Given the description of an element on the screen output the (x, y) to click on. 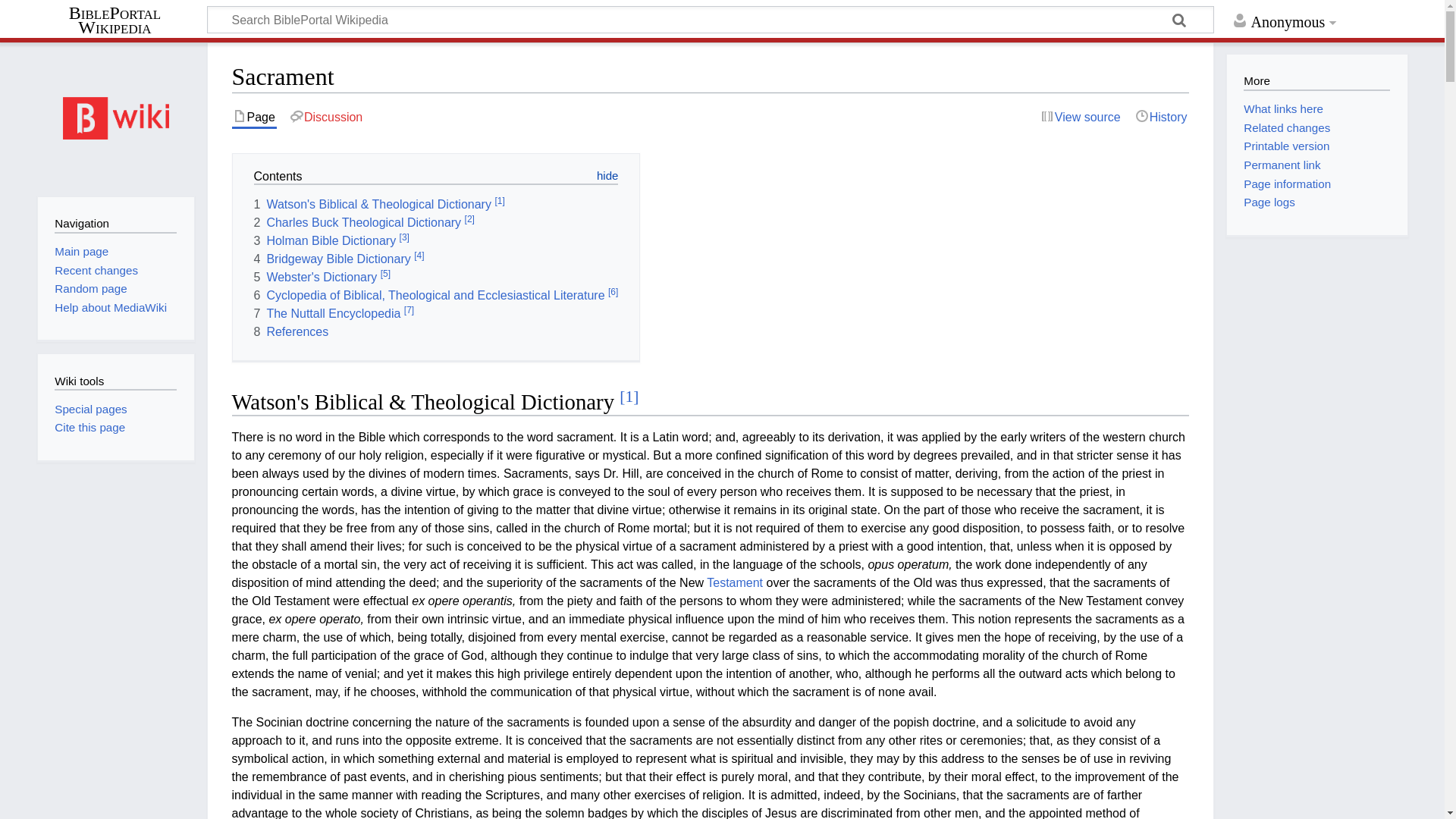
BiblePortal Wikipedia (121, 20)
Search (1179, 21)
Search the pages for this text (1179, 21)
Testament (734, 582)
View source (1080, 117)
Go (1179, 21)
8 References (291, 331)
Search (1179, 21)
Search (1179, 21)
Go (1179, 21)
